Given the description of an element on the screen output the (x, y) to click on. 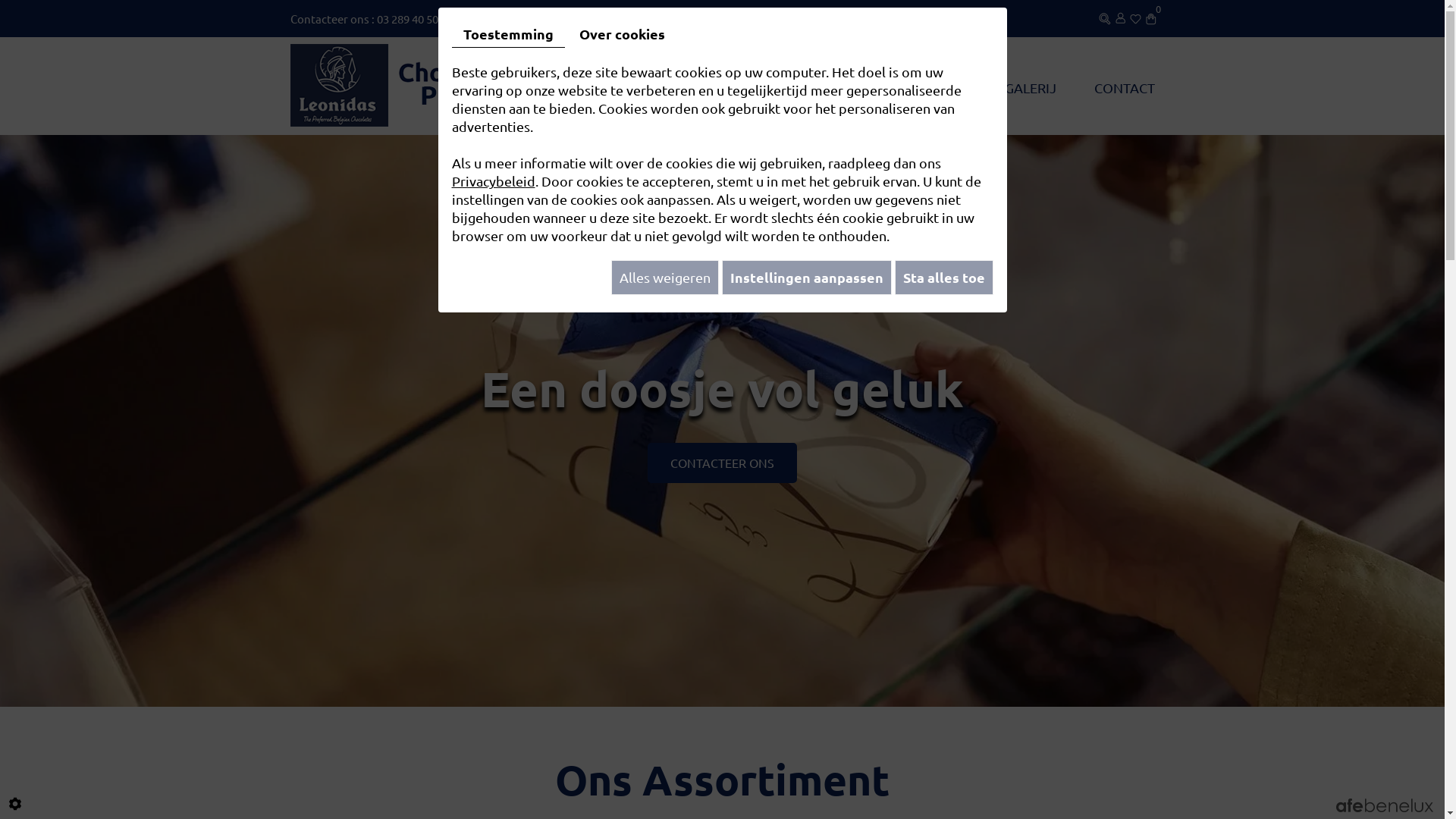
CONTACT Element type: text (1123, 87)
GALERIJ Element type: text (1029, 87)
Cookie-instelling bewerken Element type: text (14, 803)
Mijn verlanglijstje Element type: hover (1134, 16)
ONLINE WEBSHOP Element type: text (809, 87)
Sta alles toe Element type: text (943, 277)
Over cookies Element type: text (621, 34)
Privacybeleid Element type: text (493, 180)
Alles weigeren Element type: text (664, 277)
Contacteer ons : 03 289 40 50 - 0469 16 01 03 Element type: text (400, 17)
Toestemming Element type: text (507, 34)
CONTACTEER ONS Element type: text (722, 462)
Leonidas Puurs-Sint-Amands - chocolat-puur Element type: hover (396, 83)
HOME Element type: text (691, 87)
Zoeken Element type: text (864, 420)
Instellingen aanpassen Element type: text (806, 277)
PROMO'S Element type: text (935, 87)
